Given the description of an element on the screen output the (x, y) to click on. 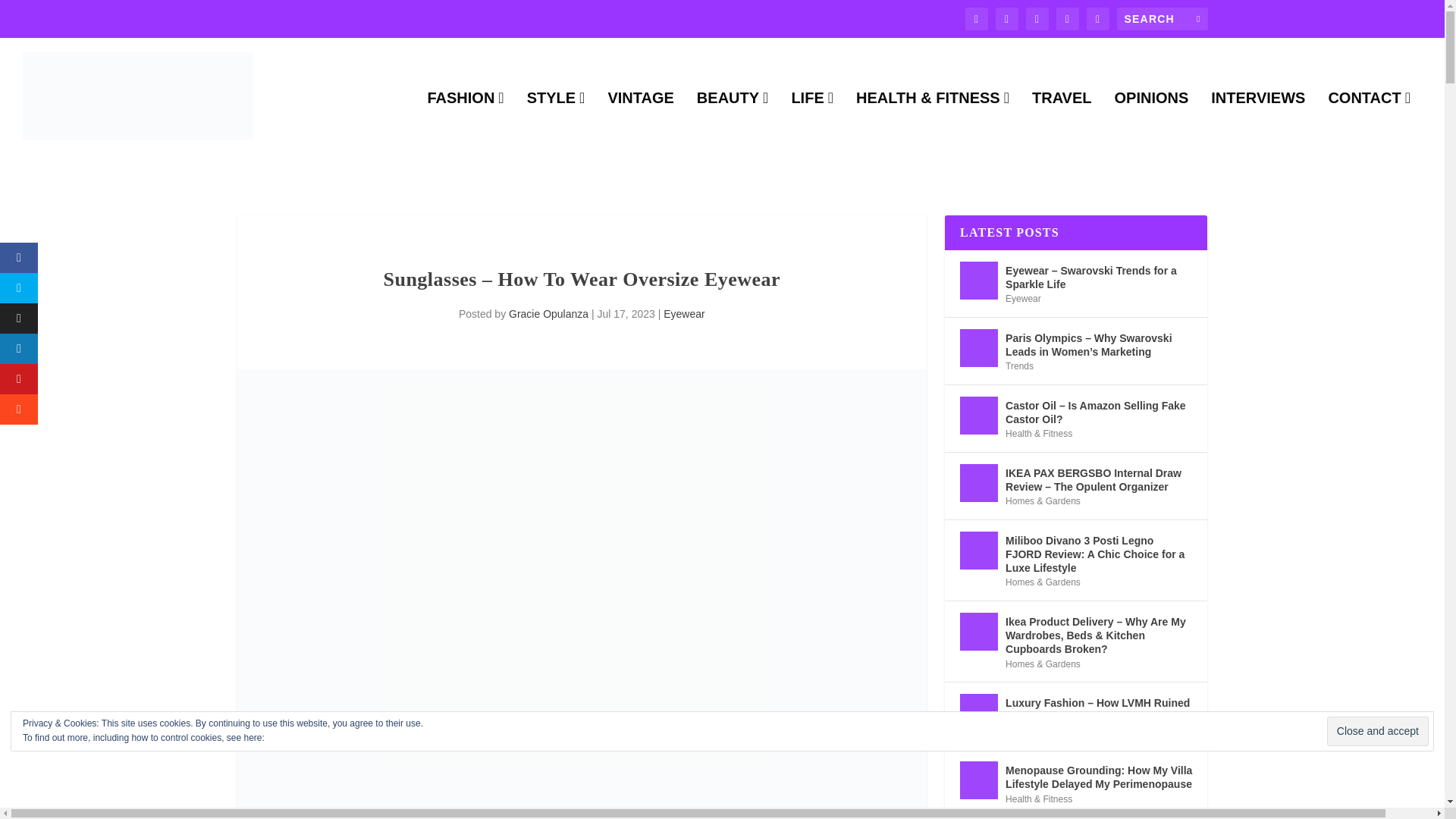
BEAUTY (732, 122)
Posts by Gracie Opulanza (548, 313)
FASHION (464, 122)
Close and accept (1377, 731)
Search for: (1161, 18)
STYLE (556, 122)
VINTAGE (639, 122)
